Given the description of an element on the screen output the (x, y) to click on. 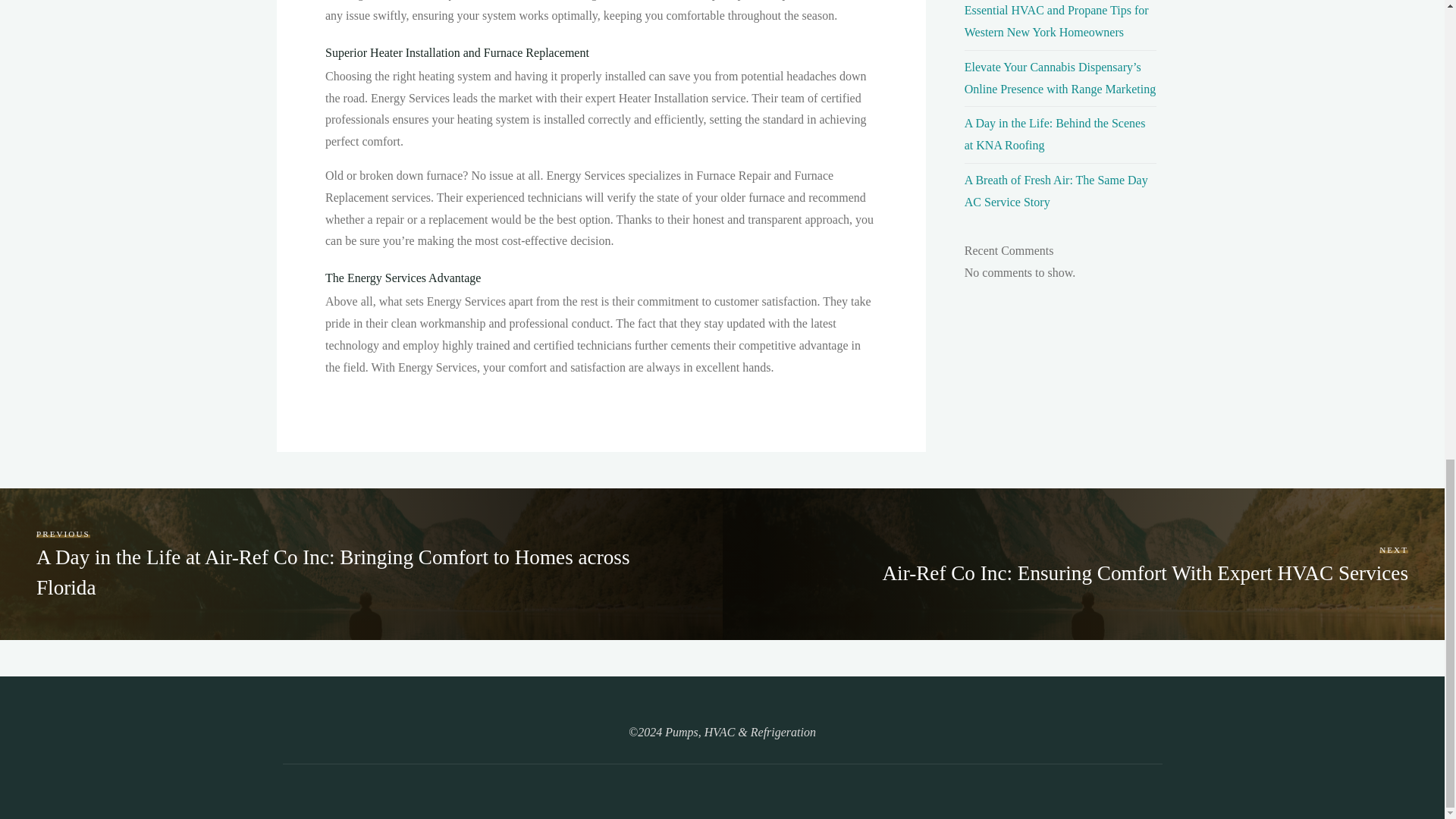
A Breath of Fresh Air: The Same Day AC Service Story (1055, 190)
A Day in the Life: Behind the Scenes at KNA Roofing (1054, 134)
